Given the description of an element on the screen output the (x, y) to click on. 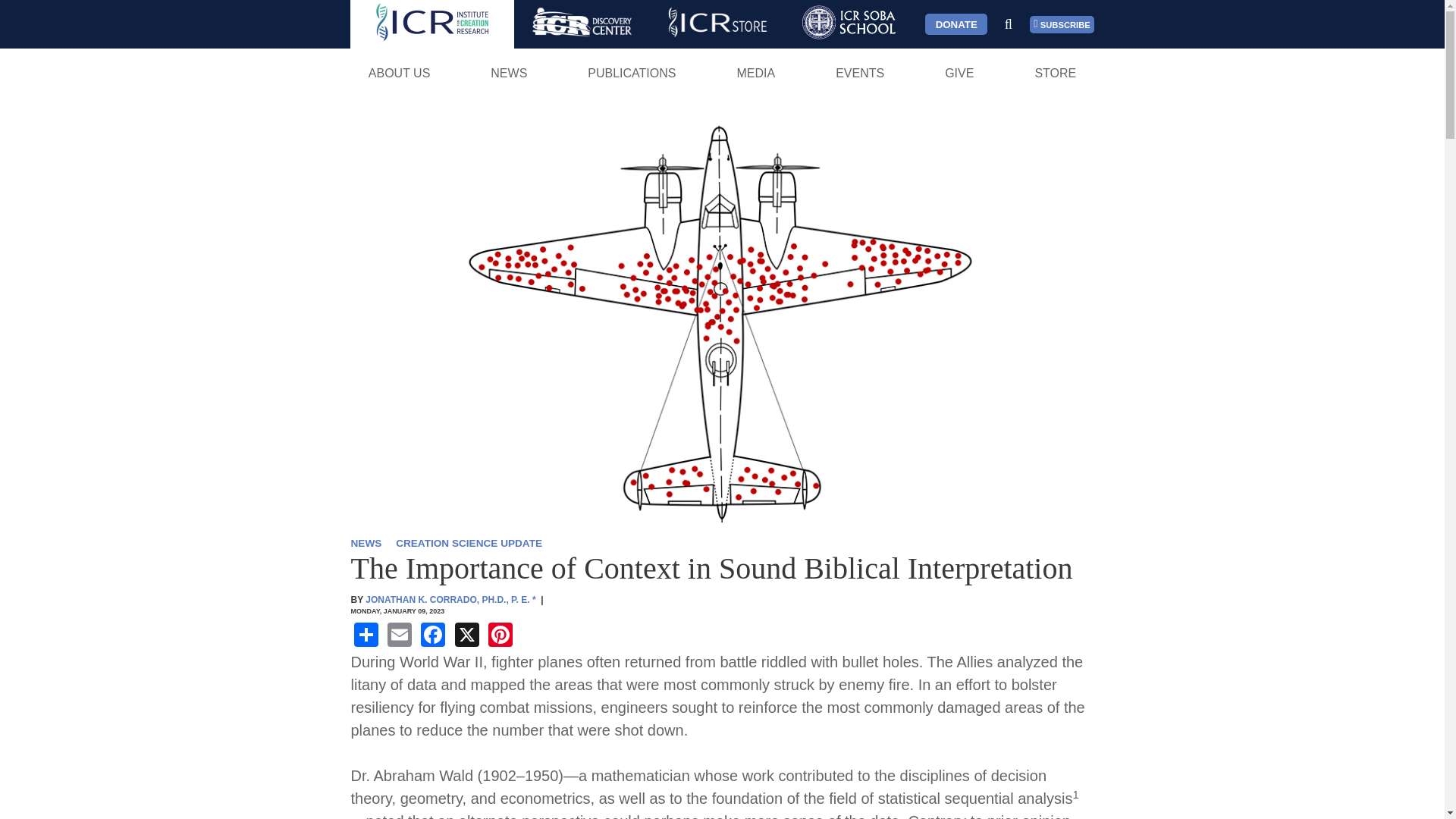
NEWS (508, 73)
ABOUT US (399, 73)
PUBLICATIONS (631, 73)
DONATE (955, 24)
SUBSCRIBE (1061, 24)
